Given the description of an element on the screen output the (x, y) to click on. 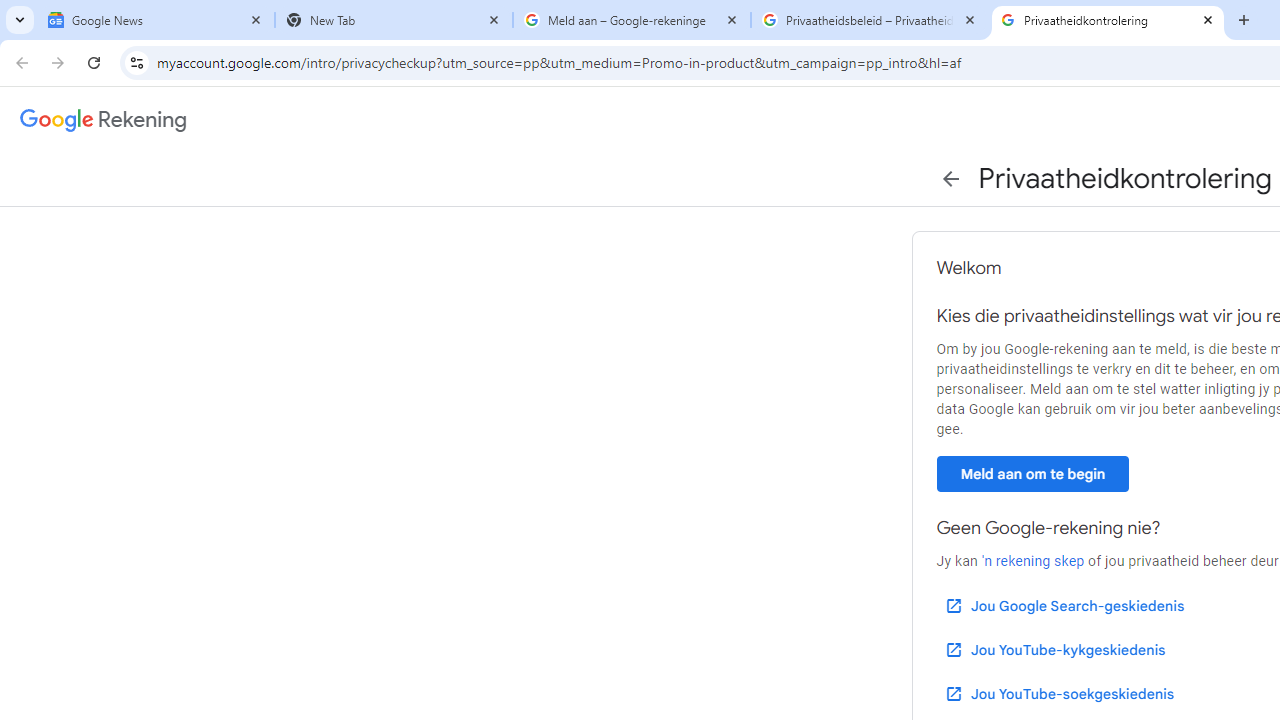
Jou YouTube-kykgeskiedenis (1054, 650)
Terug (950, 178)
Meld aan om te begin (1031, 473)
Jou YouTube-soekgeskiedenis (1058, 694)
Google Rekening-instellings (104, 120)
Google News (156, 20)
New Tab (394, 20)
